Given the description of an element on the screen output the (x, y) to click on. 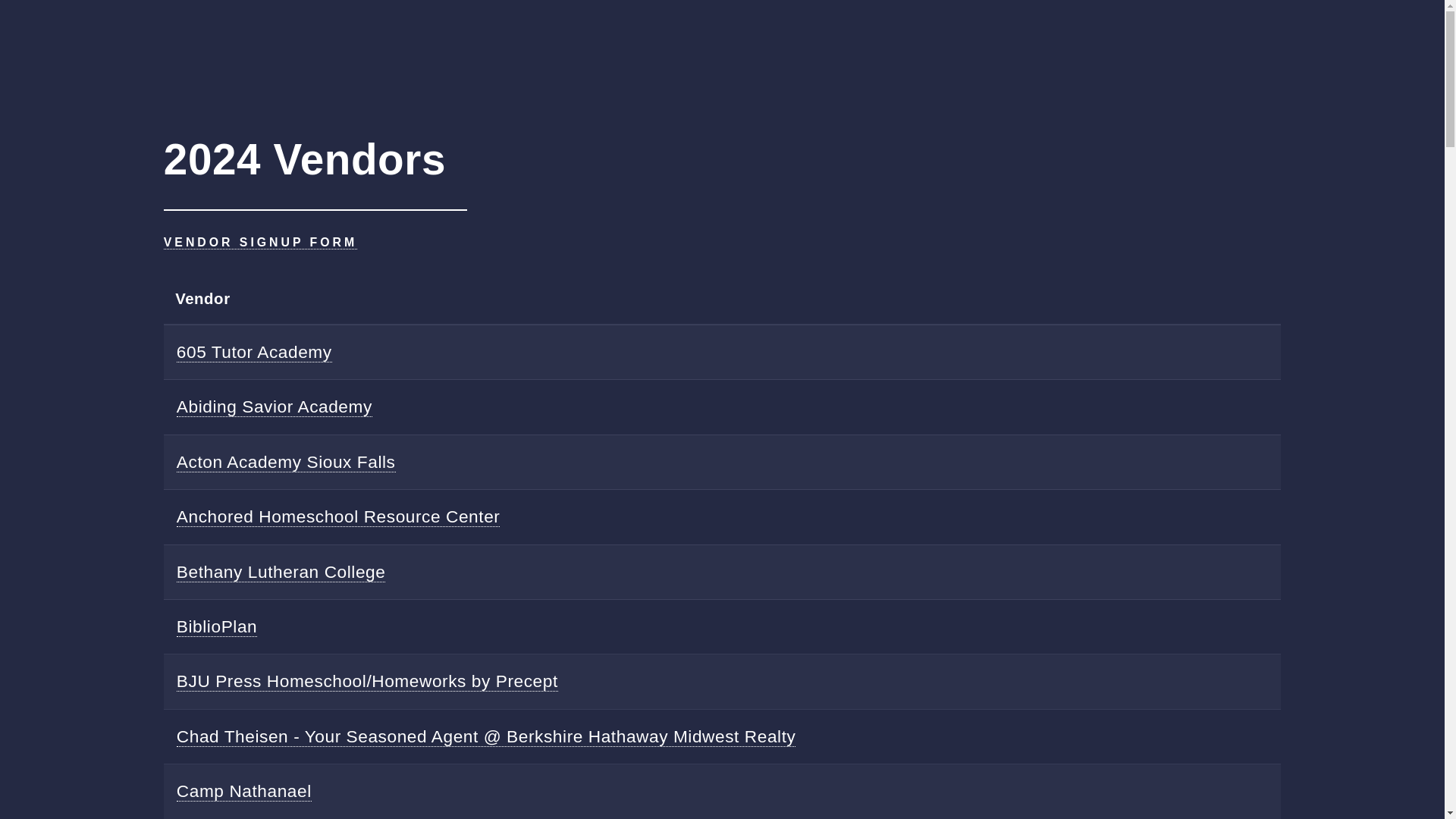
Camp Nathanael (243, 791)
Anchored Homeschool Resource Center (338, 516)
Acton Academy Sioux Falls (286, 462)
BiblioPlan (216, 626)
Abiding Savior Academy (274, 406)
605 Tutor Academy (253, 352)
Bethany Lutheran College (280, 571)
VENDOR SIGNUP FORM (259, 242)
